Given the description of an element on the screen output the (x, y) to click on. 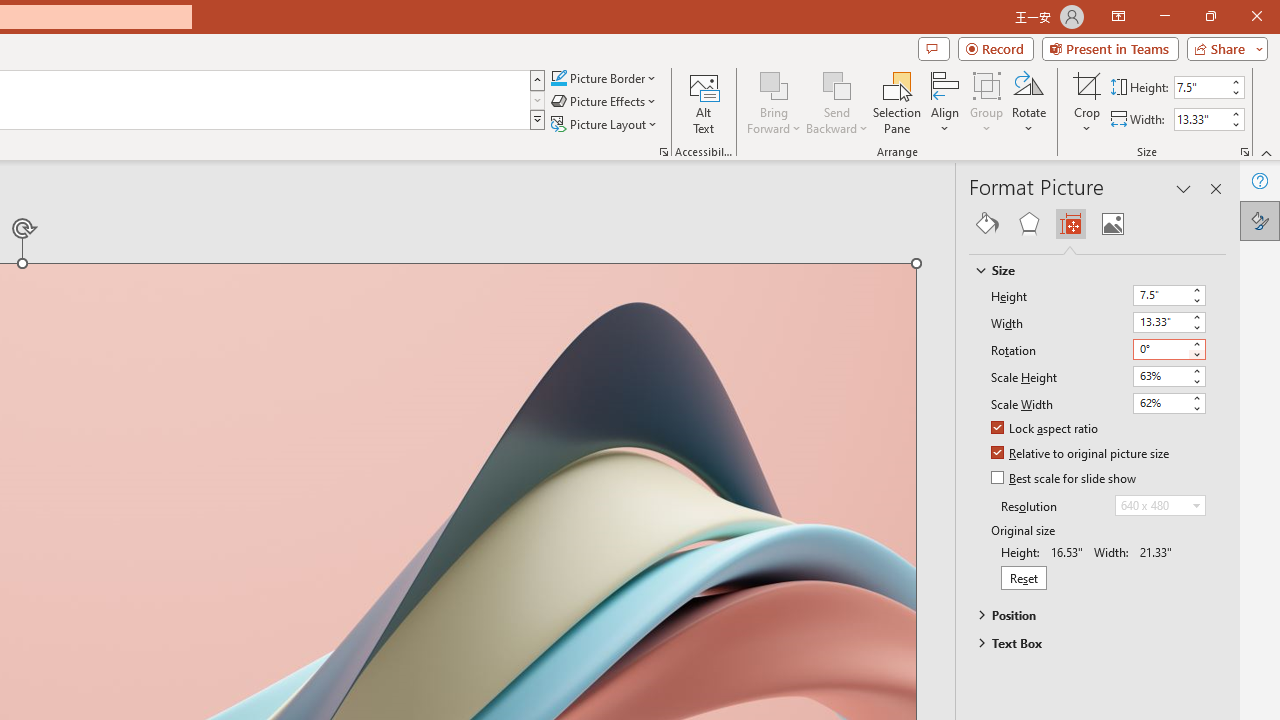
Height (1160, 294)
Effects (1028, 223)
Picture... (663, 151)
Rotation (1168, 349)
Scale Width (1160, 402)
Scale Height (1168, 376)
Shape Width (1201, 119)
Picture Layout (605, 124)
Rotate (1028, 102)
Height (1168, 295)
Lock aspect ratio (1046, 429)
Crop (1087, 102)
